Given the description of an element on the screen output the (x, y) to click on. 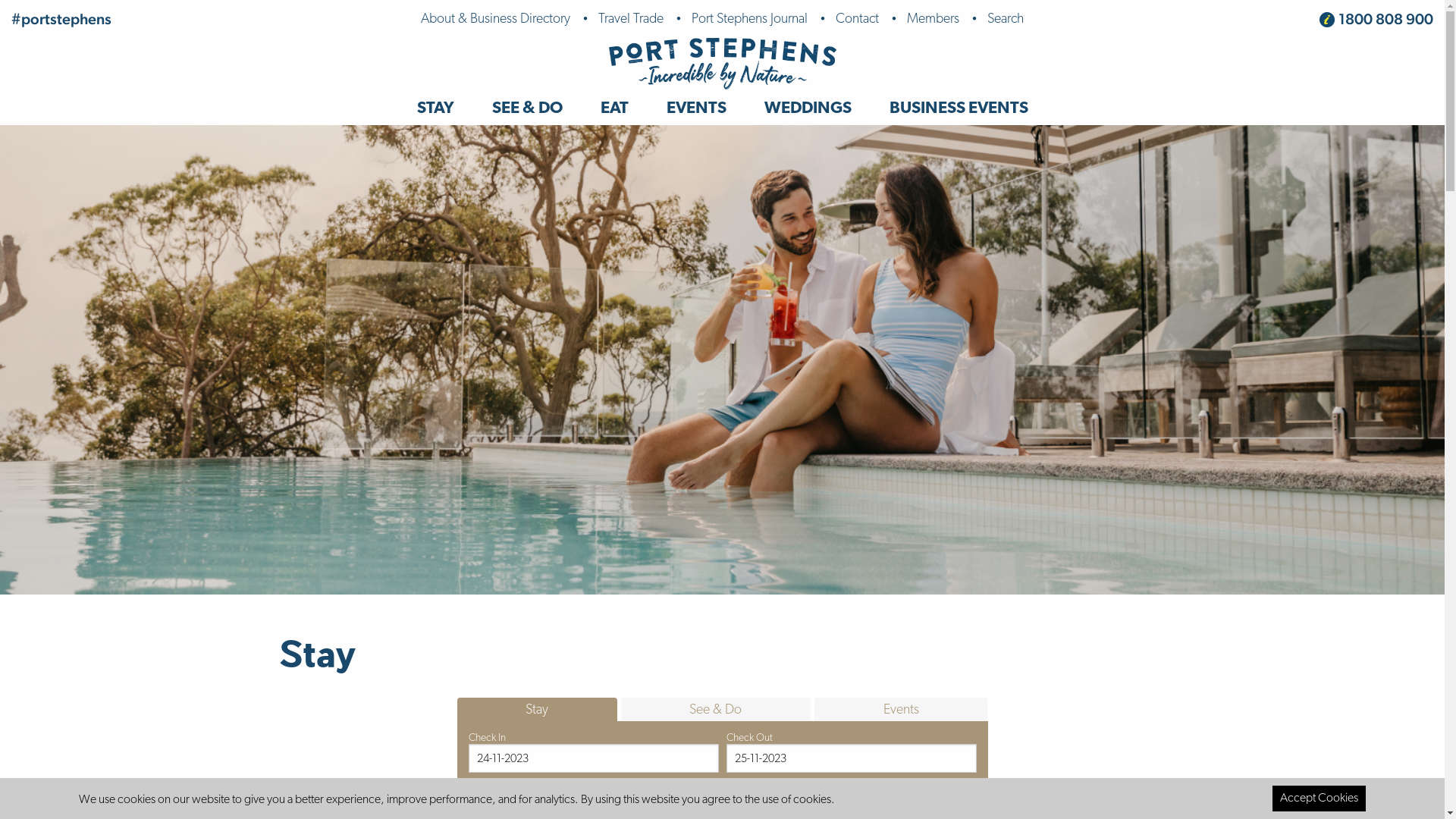
BUSINESS EVENTS Element type: text (958, 107)
STAY Element type: text (434, 107)
WEDDINGS Element type: text (806, 107)
#portstephens Element type: text (61, 18)
Members Element type: text (932, 18)
Port Stephens Journal Element type: text (749, 18)
Port Stephens Element type: hover (721, 63)
EAT Element type: text (613, 107)
Contact Element type: text (857, 18)
Search Element type: text (1005, 18)
1800 808 900 Element type: text (1385, 18)
SEE & DO Element type: text (527, 107)
EVENTS Element type: text (696, 107)
Accept Cookies Element type: text (1318, 798)
Travel Trade Element type: text (630, 18)
About & Business Directory Element type: text (495, 18)
Port Stephens Visitor Information Centre Icon Element type: hover (1326, 19)
